Given the description of an element on the screen output the (x, y) to click on. 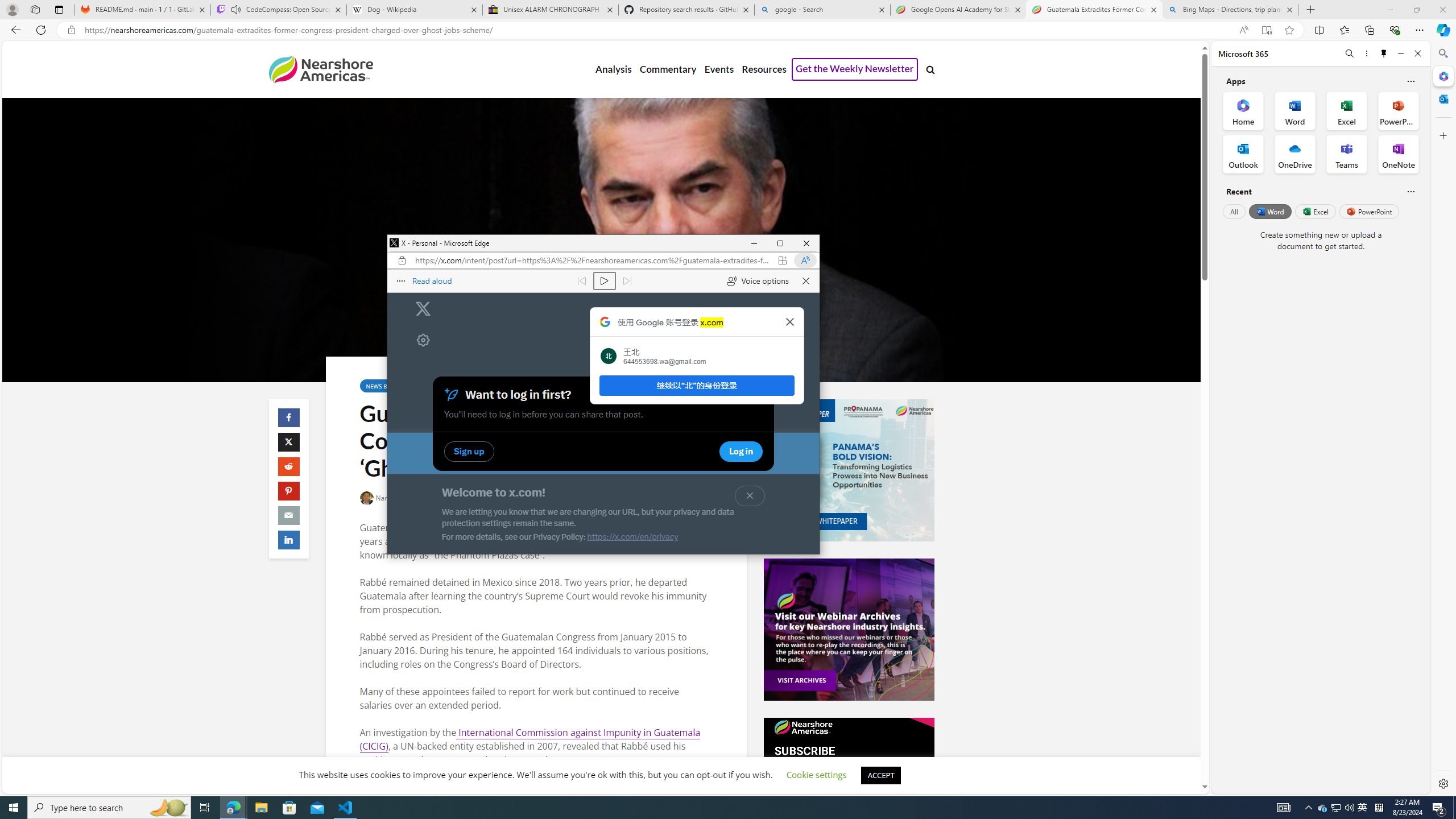
Commentary (667, 69)
Get the Weekly Newsletter (854, 69)
Mute tab (235, 8)
Microsoft Edge - 2 running windows (1322, 807)
Outlook Office App (233, 807)
